Given the description of an element on the screen output the (x, y) to click on. 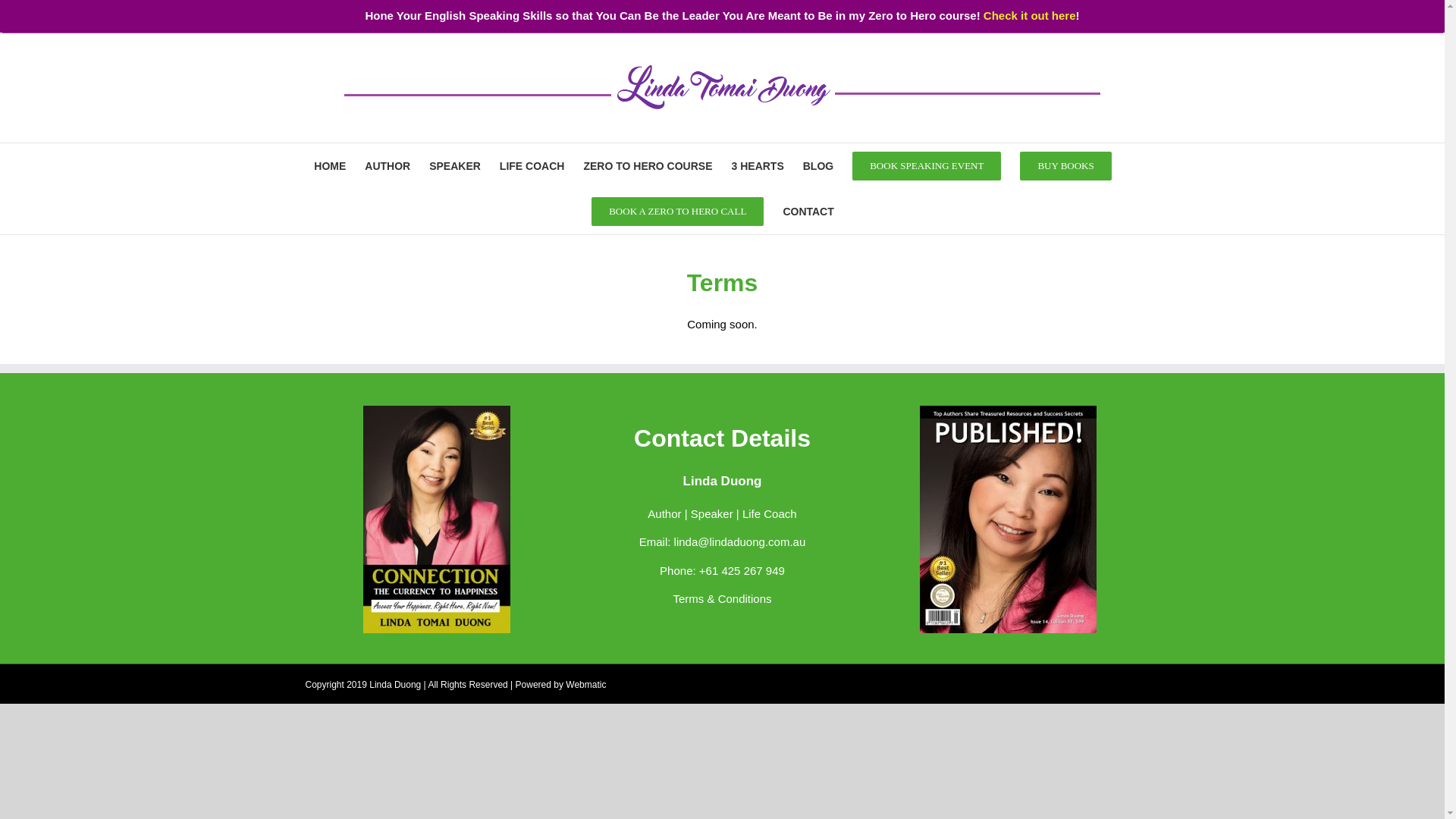
Webmatic Element type: text (585, 684)
ZERO TO HERO COURSE Element type: text (647, 165)
+61 425 267 949 Element type: text (741, 570)
SPEAKER Element type: text (454, 165)
BOOK SPEAKING EVENT Element type: text (926, 165)
Linda Duong Connection The Currency to Happiness Element type: hover (436, 519)
3 HEARTS Element type: text (757, 165)
BUY BOOKS Element type: text (1064, 165)
linda@lindaduong.com.au Element type: text (740, 541)
BLOG Element type: text (818, 165)
LIFE COACH Element type: text (531, 165)
HOME Element type: text (329, 165)
Check it out here Element type: text (1029, 15)
AUTHOR Element type: text (387, 165)
BOOK A ZERO TO HERO CALL Element type: text (677, 210)
Terms & Conditions Element type: text (721, 598)
CONTACT Element type: text (807, 210)
